Given the description of an element on the screen output the (x, y) to click on. 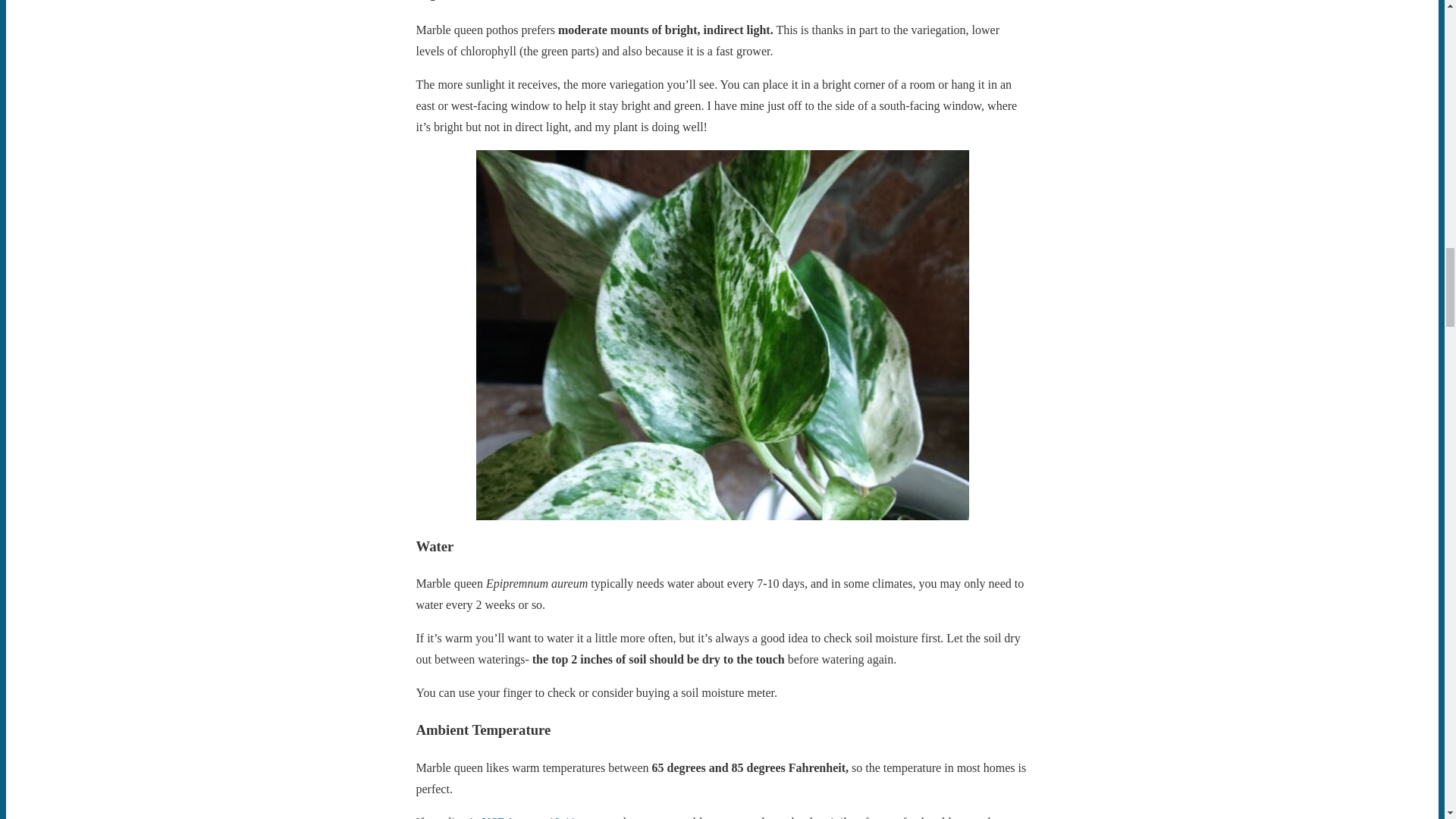
USDA zones 10-11 (528, 817)
